Given the description of an element on the screen output the (x, y) to click on. 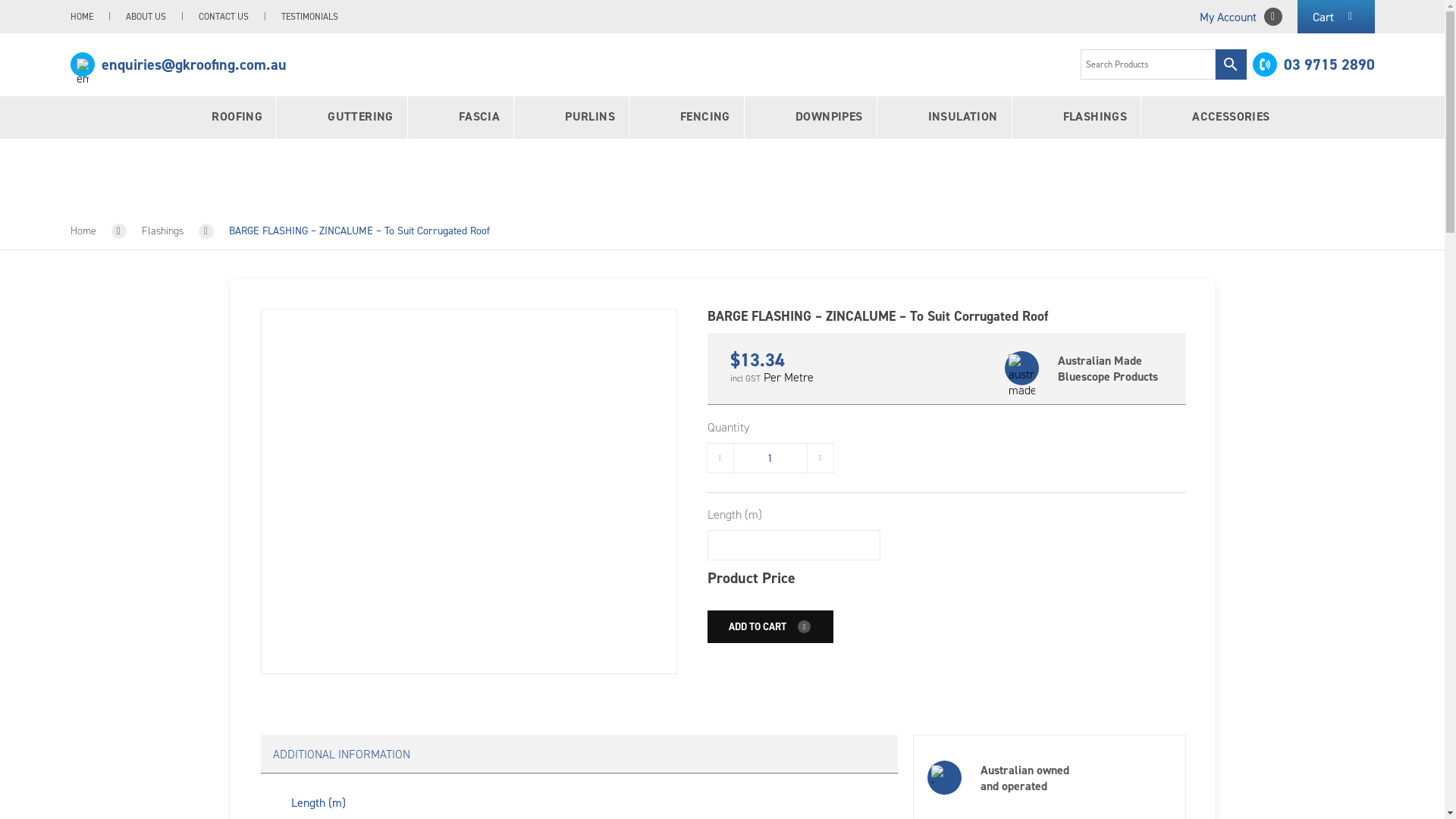
03 9715 2890 Element type: text (1328, 64)
Decrease Value Element type: text (720, 457)
HOME Element type: text (80, 16)
DOWNPIPES Element type: text (810, 117)
ADD TO CART Element type: text (769, 626)
TESTIMONIALS Element type: text (308, 16)
FASCIA Element type: text (460, 117)
FENCING Element type: text (686, 117)
GUTTERING Element type: text (341, 117)
ROOFING Element type: text (218, 117)
INSULATION Element type: text (944, 117)
ADDITIONAL INFORMATION Element type: text (341, 753)
My Account Element type: text (1272, 16)
Flashings Element type: text (146, 230)
Home Element type: text (82, 230)
PURLINS Element type: text (571, 117)
ABOUT US Element type: text (145, 16)
Qty Element type: hover (769, 457)
Cart Element type: text (1349, 16)
enquiries@gkroofing.com.au Element type: text (193, 64)
CONTACT US Element type: text (223, 16)
Increase Value Element type: text (820, 457)
FLASHINGS Element type: text (1076, 117)
ACCESSORIES Element type: text (1212, 117)
